Given the description of an element on the screen output the (x, y) to click on. 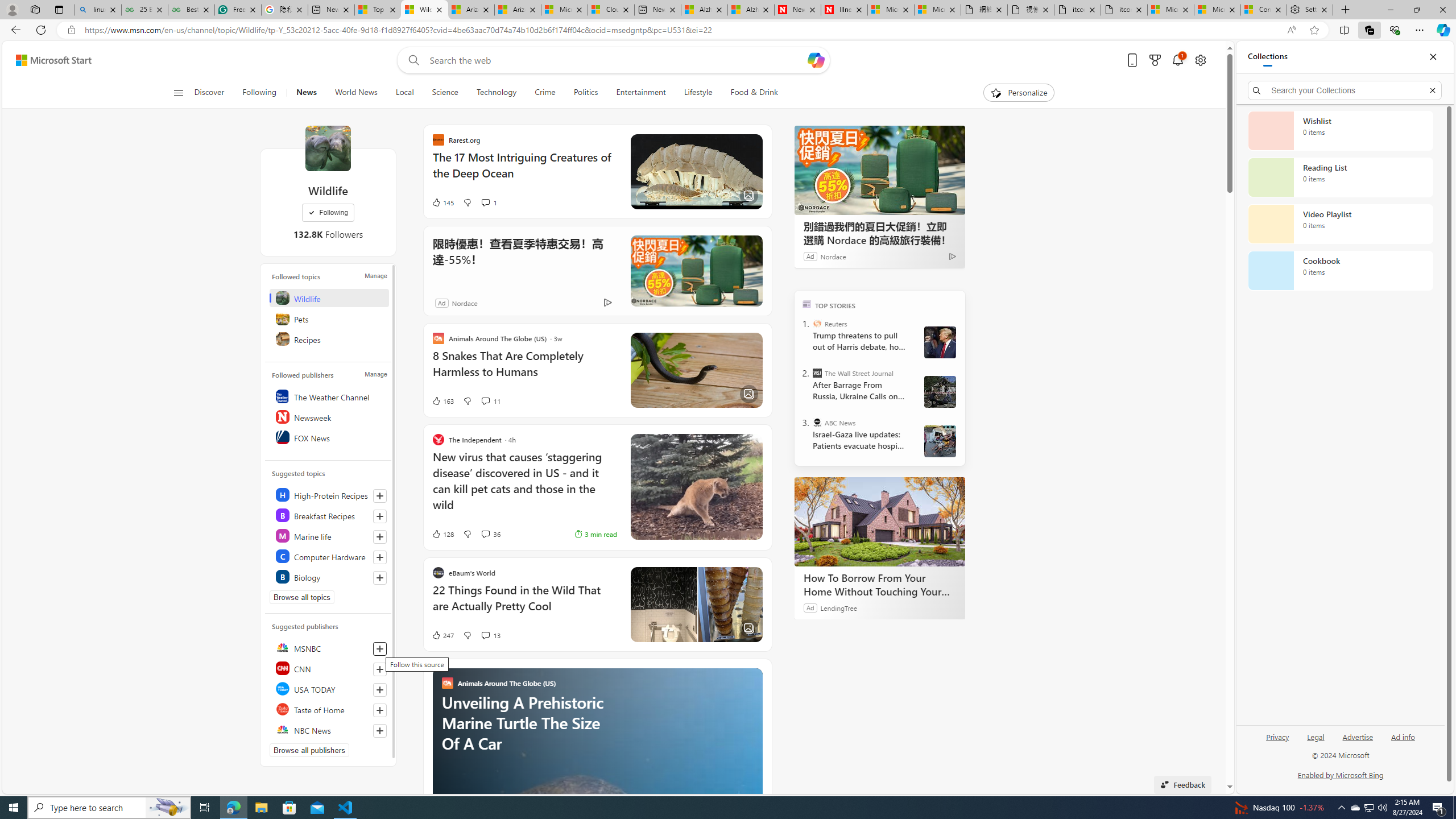
Follow this source (379, 730)
Best SSL Certificates Provider in India - GeeksforGeeks (191, 9)
View comments 11 Comment (485, 400)
Cookbook collection, 0 items (1339, 270)
